Given the description of an element on the screen output the (x, y) to click on. 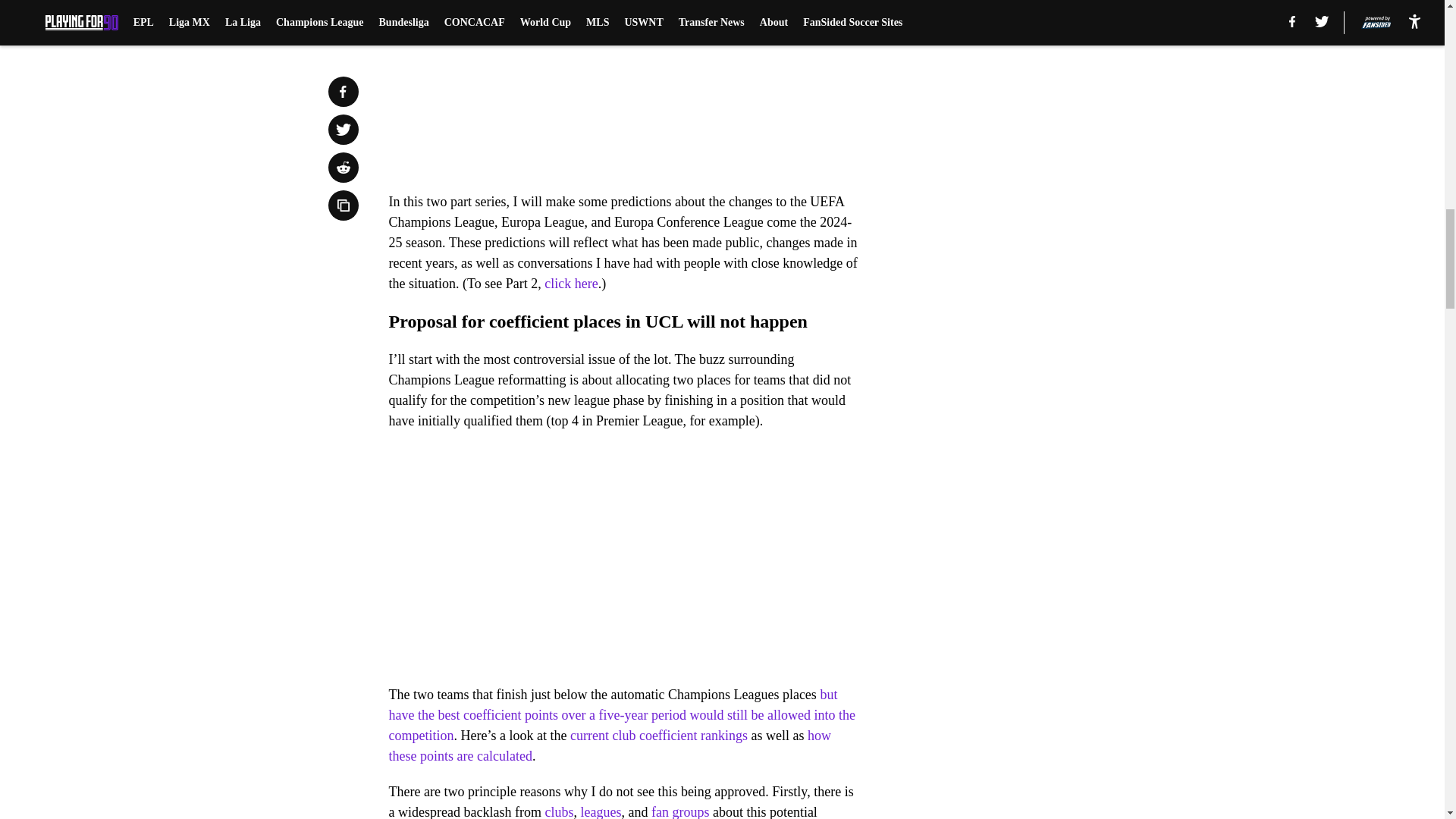
clubs (558, 811)
how these points are calculated (609, 745)
fan groups (679, 811)
click here (570, 283)
leagues (600, 811)
current club coefficient rankings (659, 735)
